Given the description of an element on the screen output the (x, y) to click on. 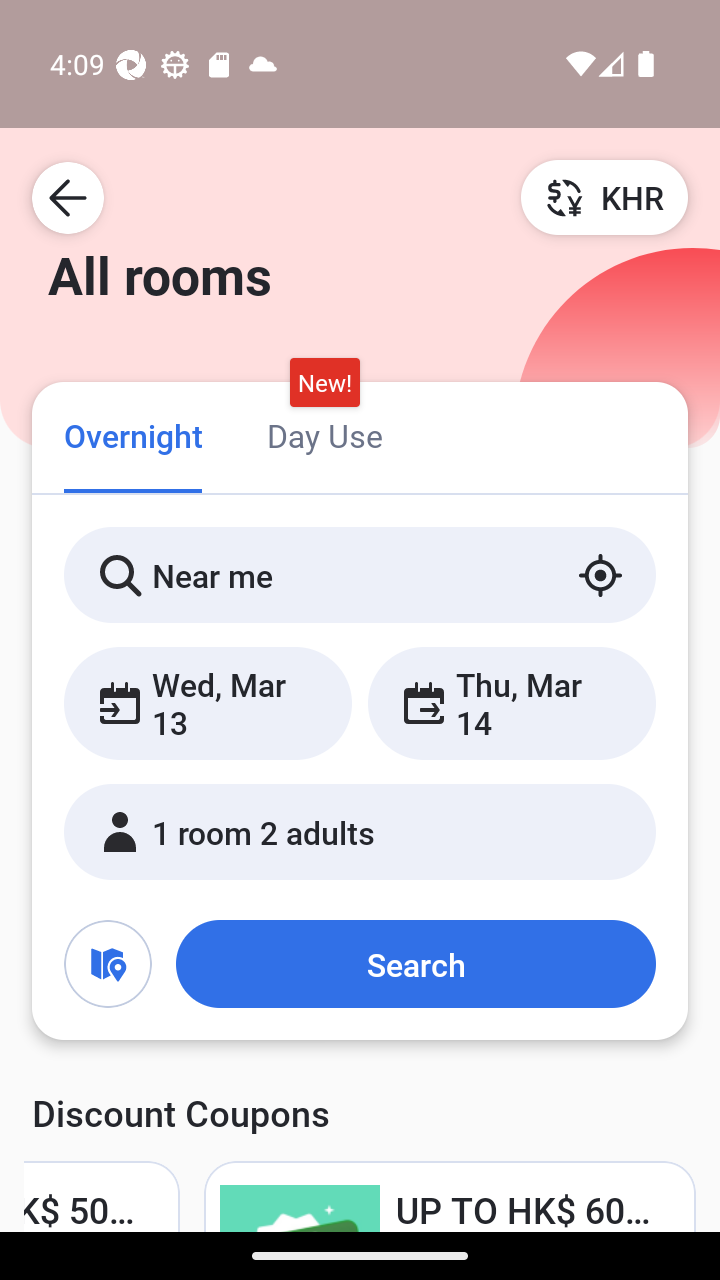
KHR (604, 197)
New! (324, 383)
Day Use (324, 434)
Near me (359, 575)
Wed, Mar 13 (208, 703)
Thu, Mar 14 (511, 703)
1 room 2 adults (359, 831)
Search (415, 964)
